Given the description of an element on the screen output the (x, y) to click on. 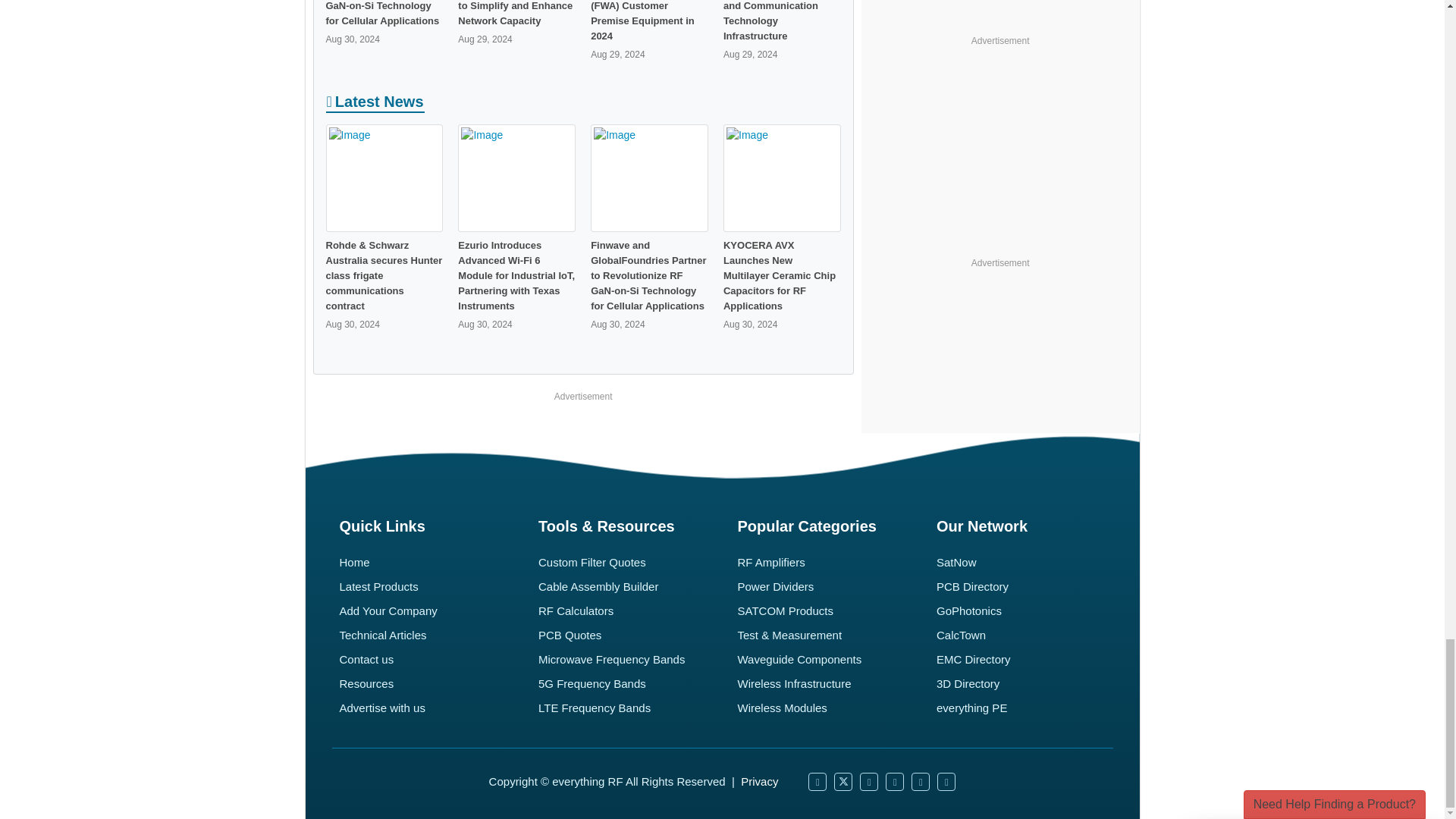
News RSS xml feed (894, 782)
Products and News RSS xml feed (946, 782)
Products RSS xml feed (920, 782)
